Given the description of an element on the screen output the (x, y) to click on. 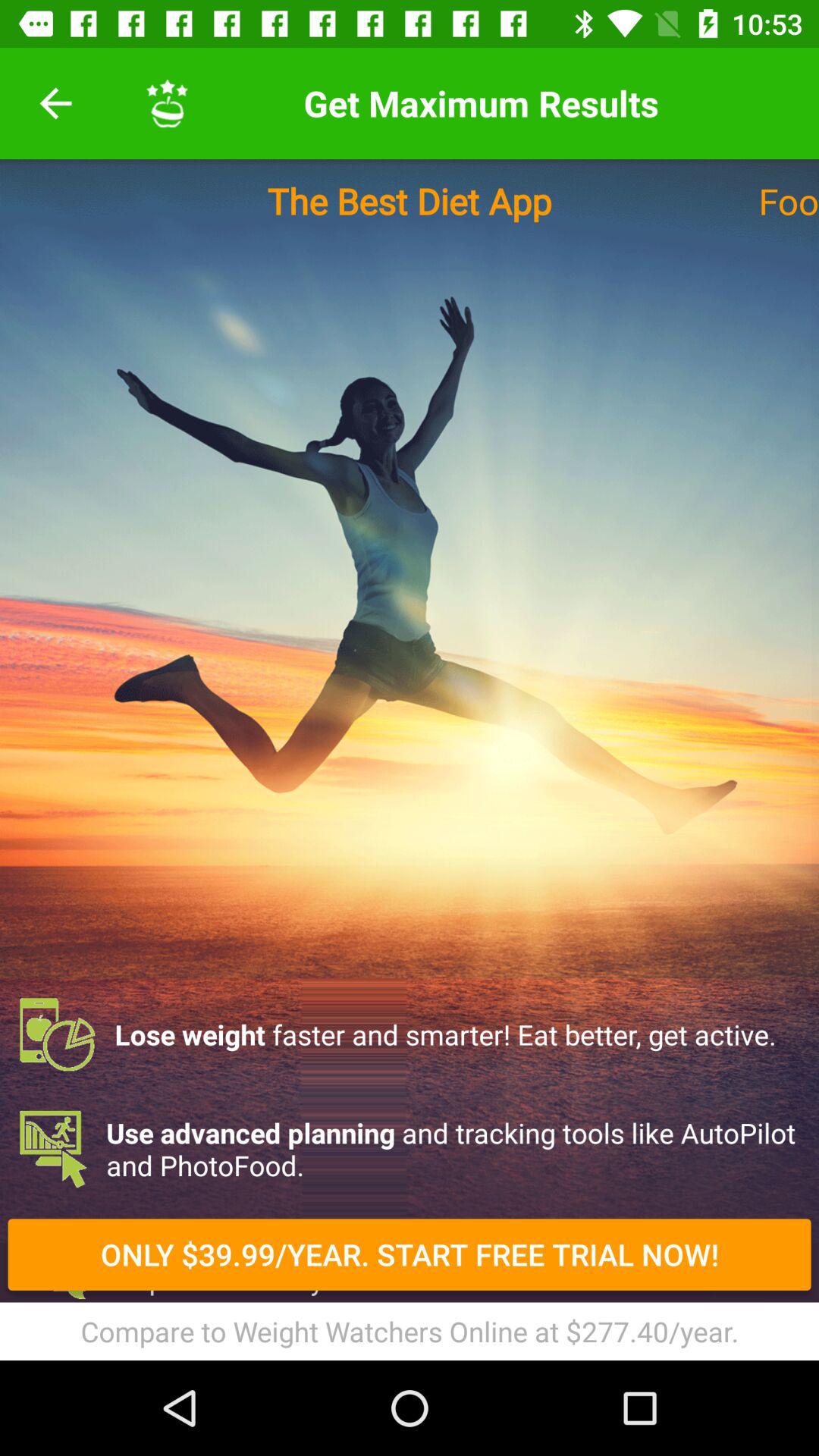
turn off the icon above the get diet advice icon (409, 1148)
